Given the description of an element on the screen output the (x, y) to click on. 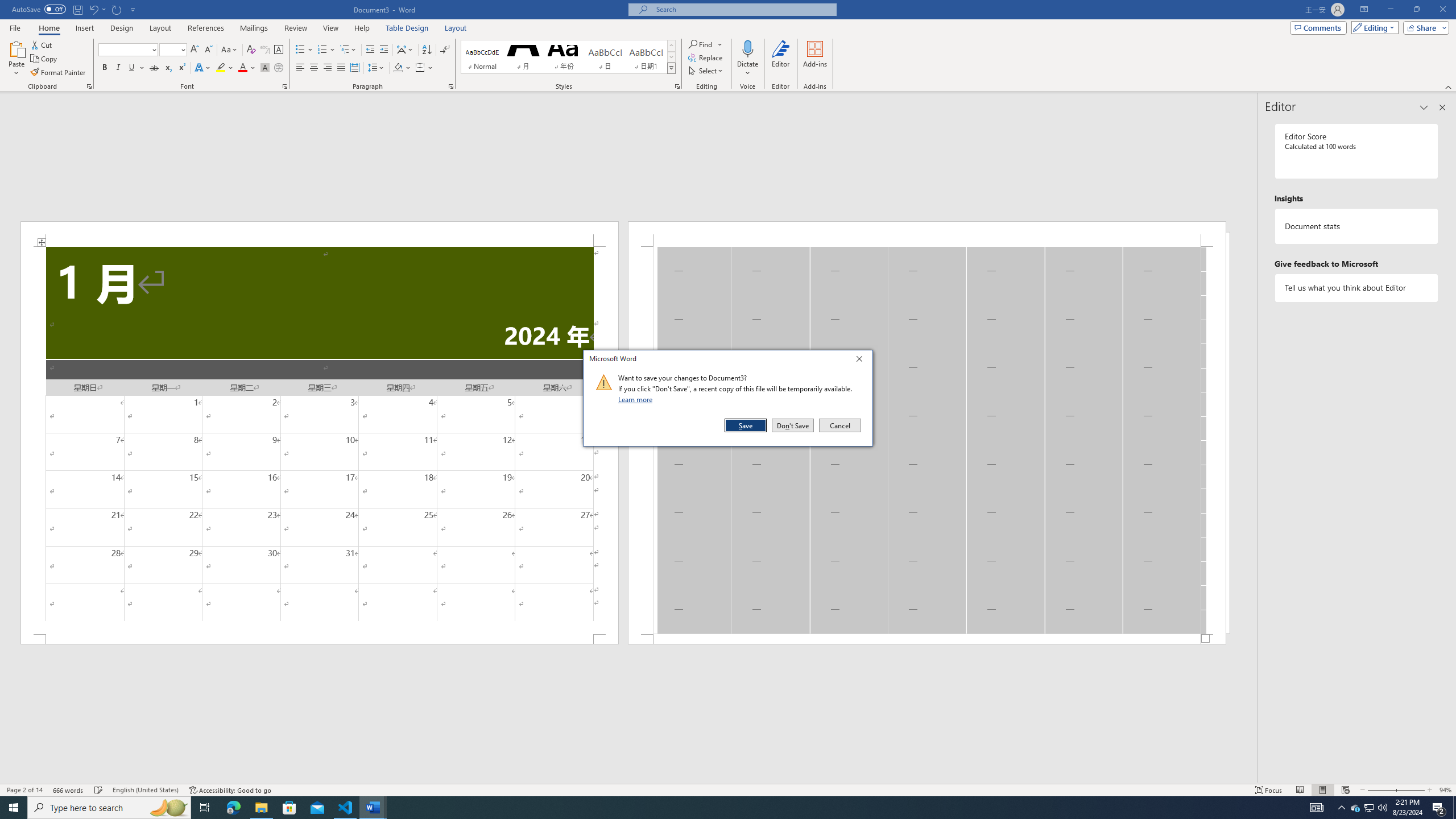
Find (700, 44)
Learn more (636, 399)
Header -Section 1- (926, 233)
Font (128, 49)
Underline (136, 67)
Task View (204, 807)
Word Count 666 words (68, 790)
Zoom Out (1380, 790)
Notification Chevron (1341, 807)
Microsoft Edge (233, 807)
Line and Paragraph Spacing (376, 67)
Decrease Indent (370, 49)
Search highlights icon opens search home window (167, 807)
Help (361, 28)
